Given the description of an element on the screen output the (x, y) to click on. 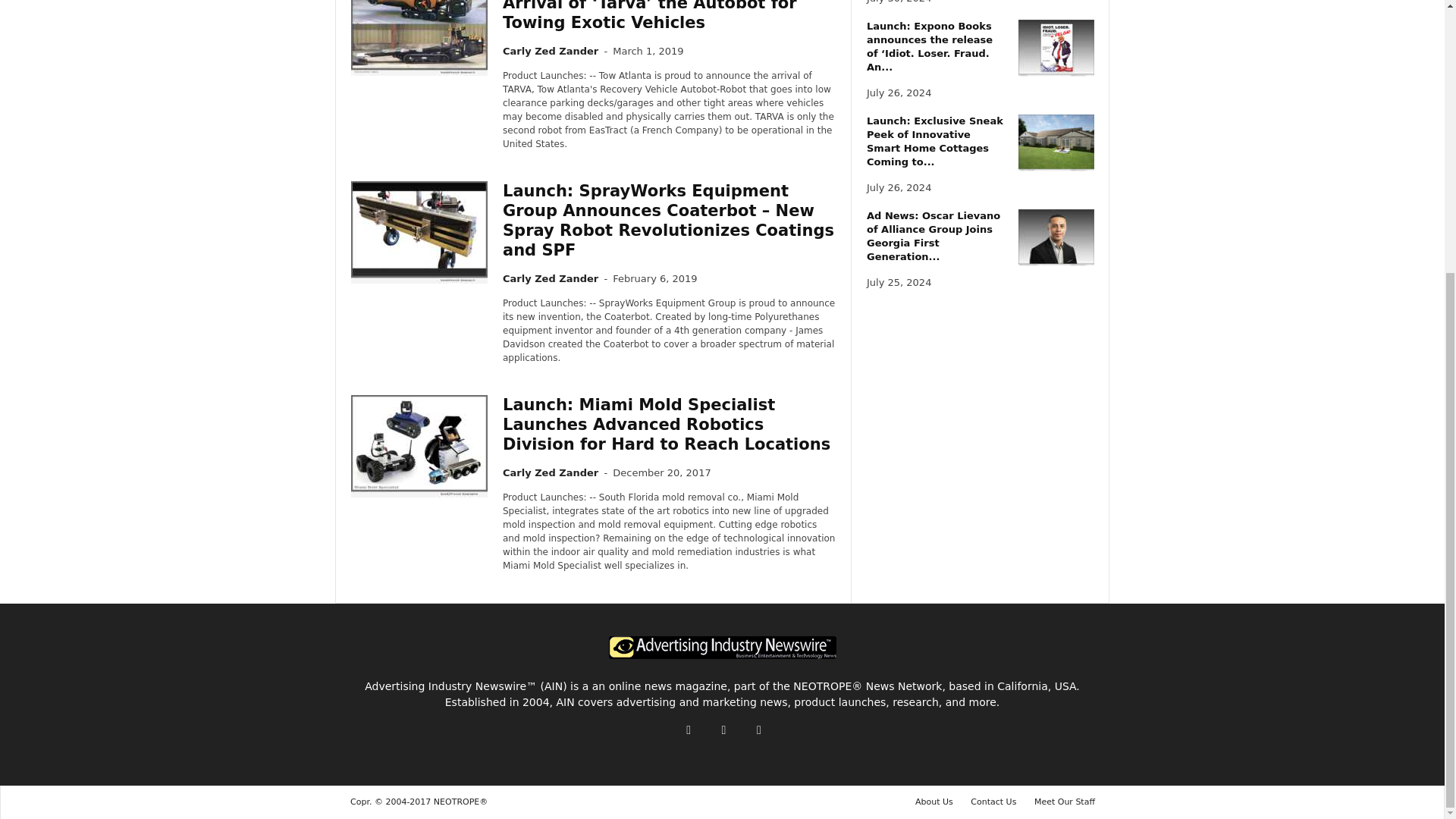
Carly Zed Zander (550, 50)
Carly Zed Zander (550, 278)
Carly Zed Zander (550, 472)
